Given the description of an element on the screen output the (x, y) to click on. 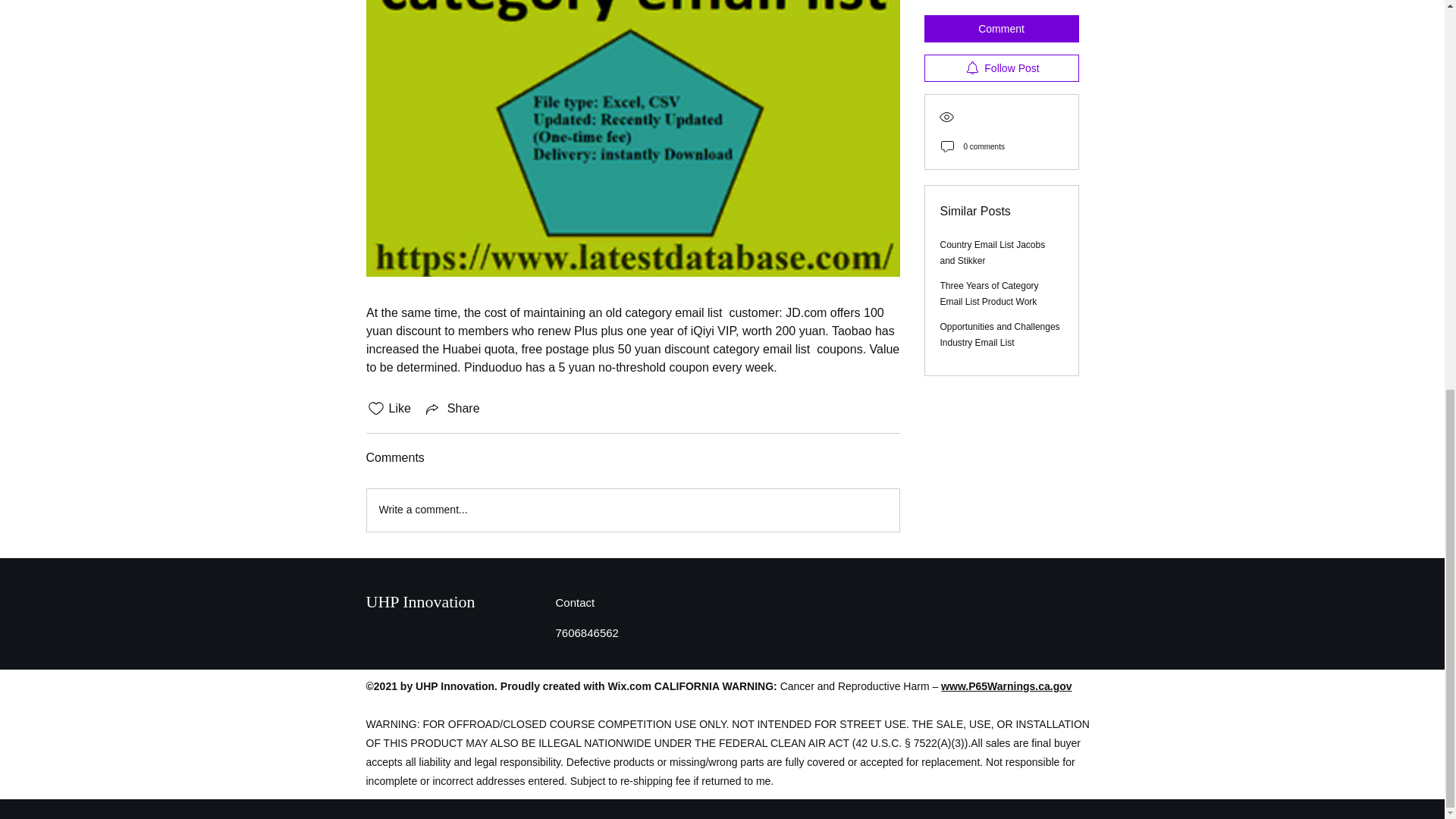
Write a comment... (632, 509)
www.P65Warnings.ca.gov (1005, 686)
UHP Innovation  (422, 601)
Share (451, 408)
